Given the description of an element on the screen output the (x, y) to click on. 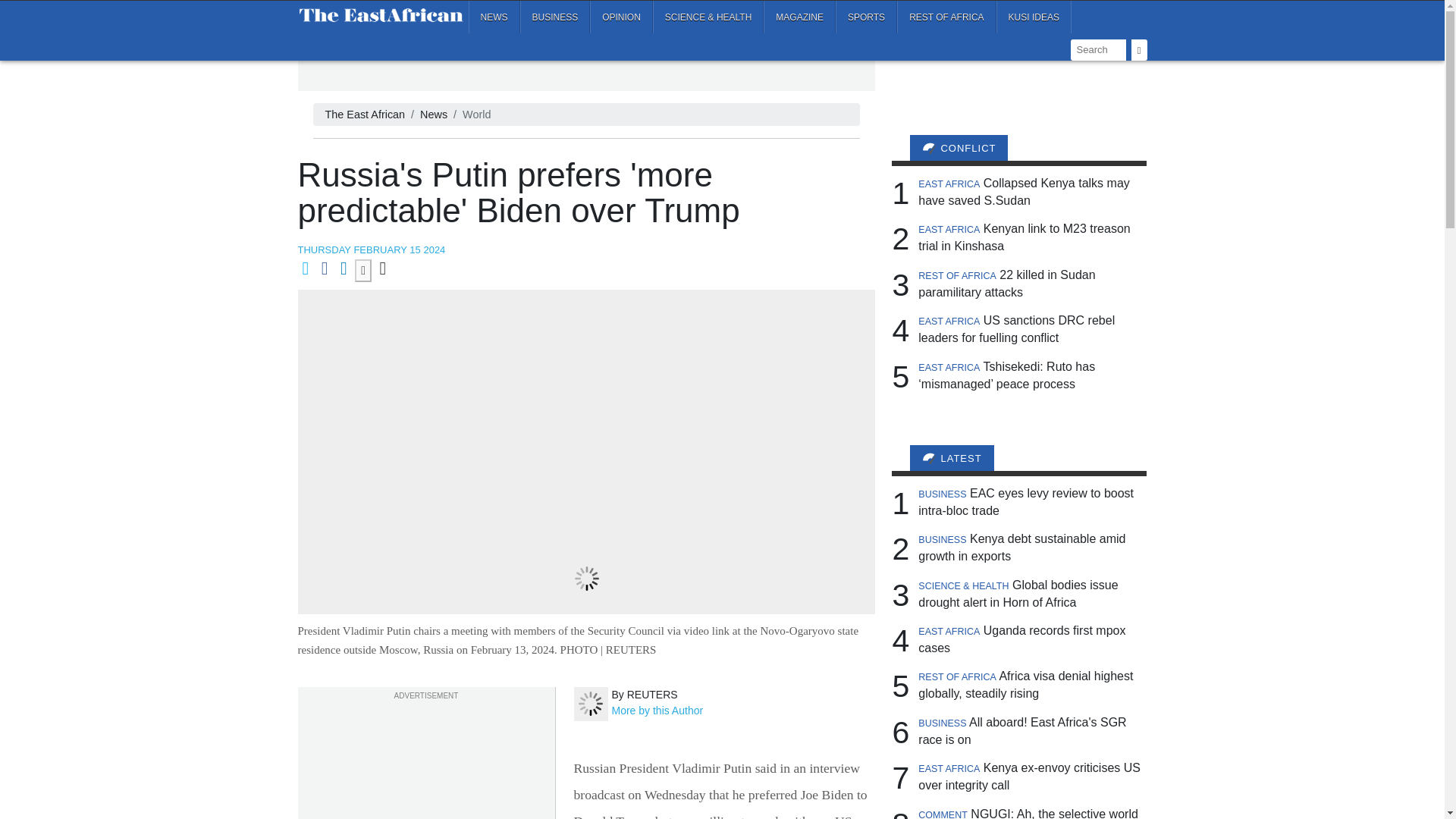
MAGAZINE (798, 16)
BUSINESS (555, 16)
NEWS (493, 16)
OPINION (620, 16)
SPORTS (865, 16)
